Given the description of an element on the screen output the (x, y) to click on. 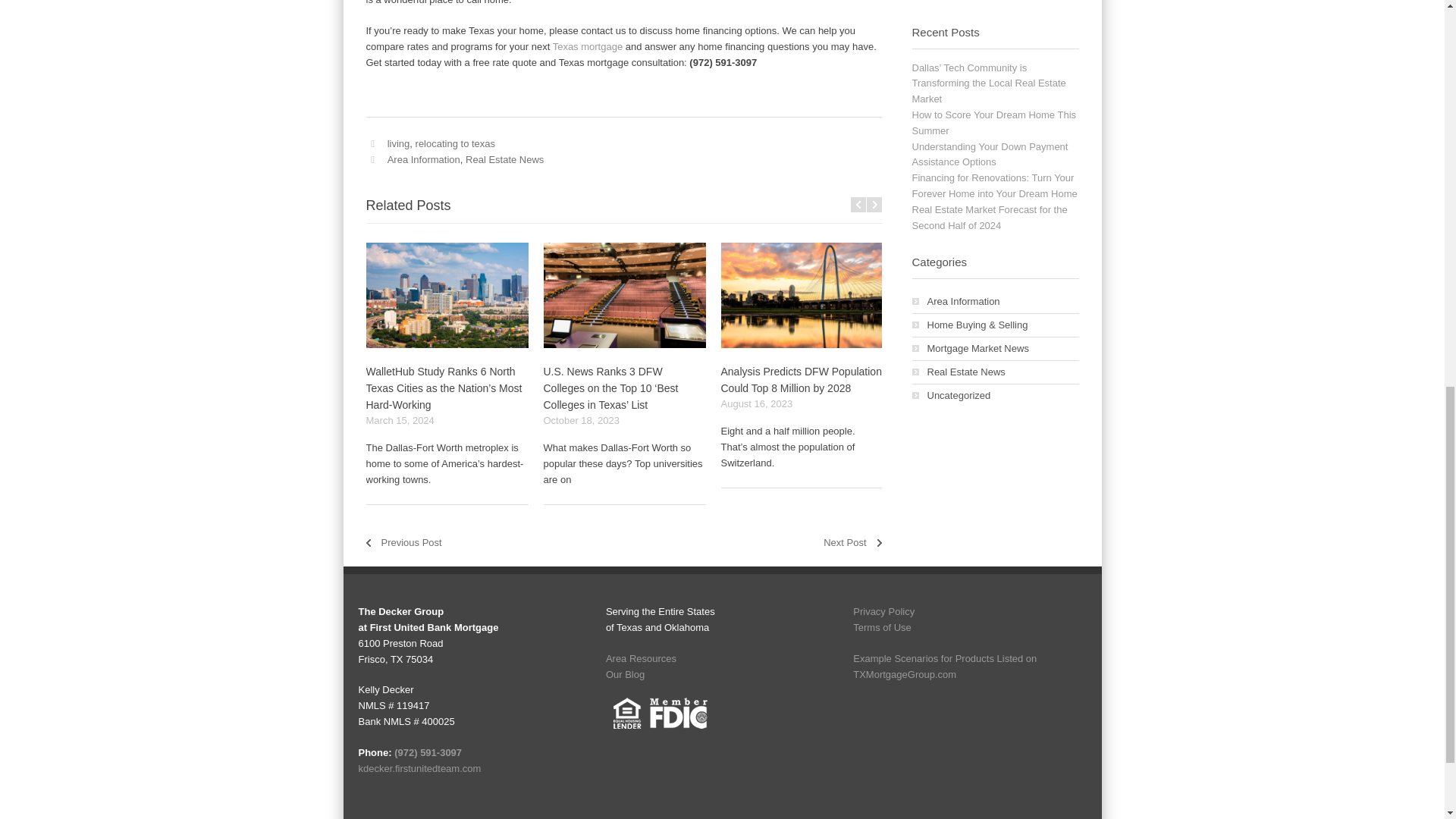
Next Post (852, 542)
living (398, 143)
Area Information (423, 159)
Texas mortgage (588, 46)
Next (873, 204)
Real Estate News (504, 159)
Previous (858, 204)
Analysis Predicts DFW Population Could Top 8 Million by 2028 (800, 379)
relocating to texas (455, 143)
Analysis Predicts DFW Population Could Top 8 Million by 2028 (800, 379)
